Given the description of an element on the screen output the (x, y) to click on. 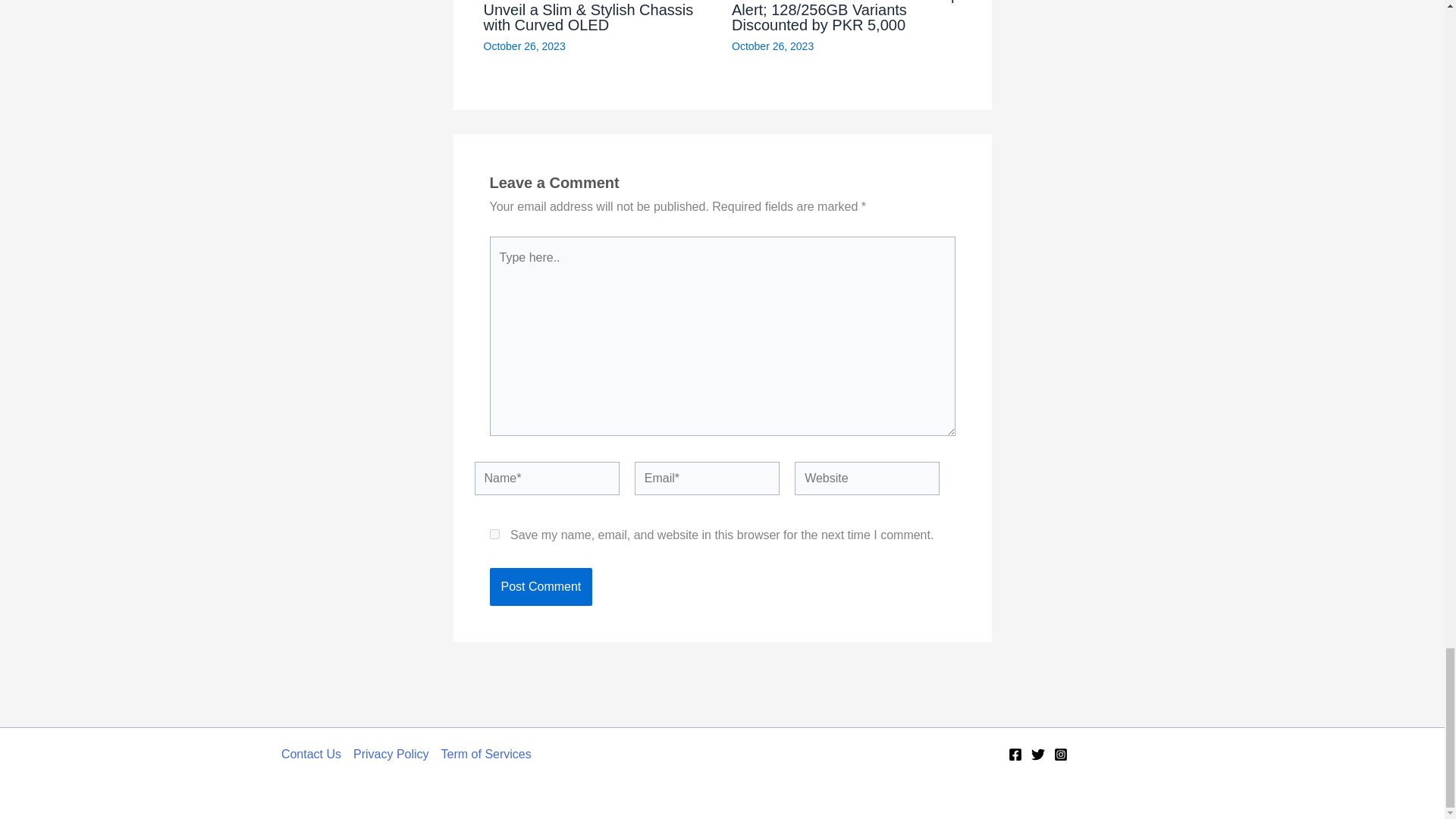
yes (494, 533)
Post Comment (540, 587)
